Given the description of an element on the screen output the (x, y) to click on. 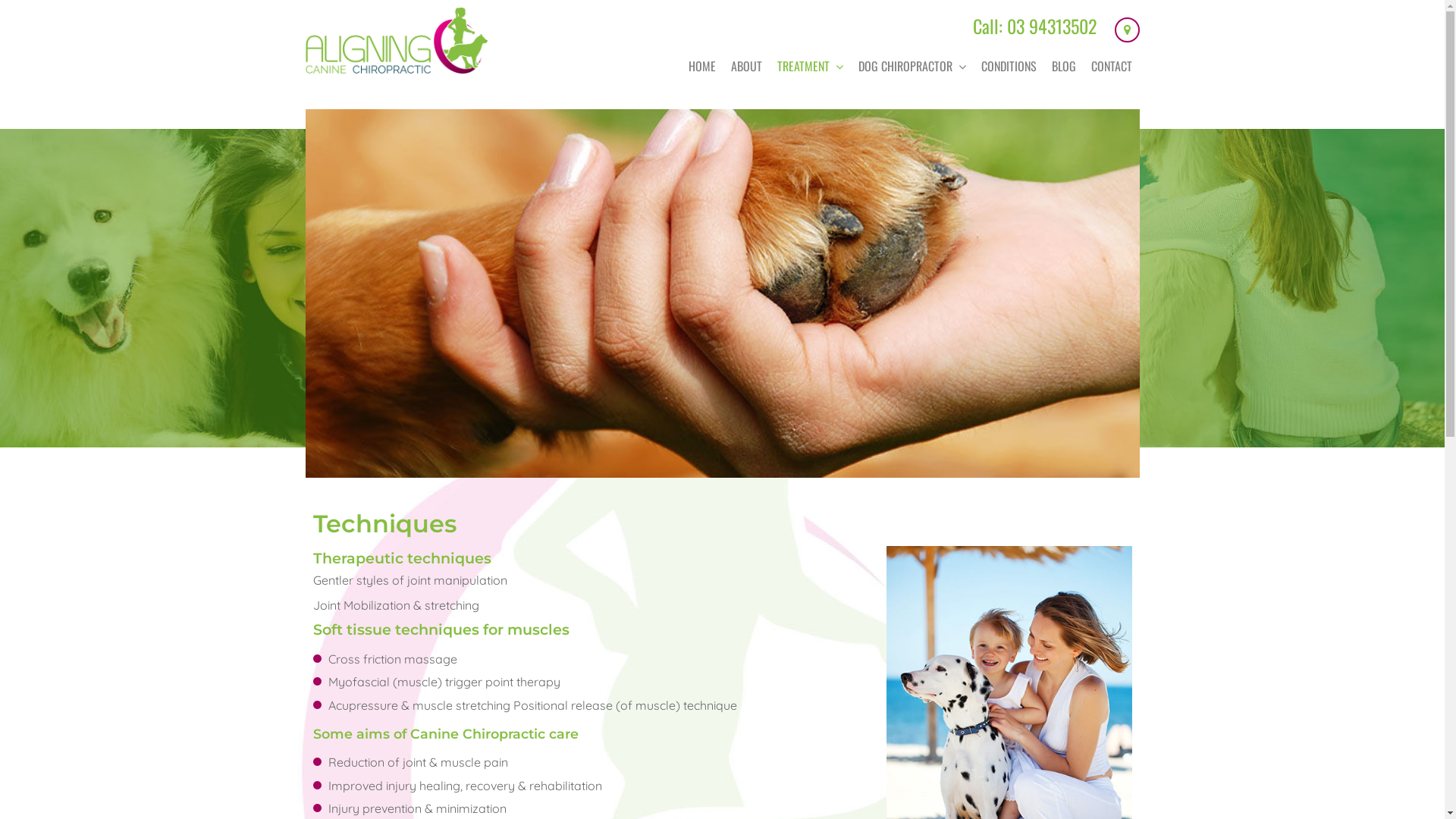
HOME Element type: text (701, 65)
TREATMENT Element type: text (809, 65)
ABOUT Element type: text (746, 65)
CONTACT Element type: text (1110, 65)
Call: 03 94313502 Element type: text (1033, 26)
DOG CHIROPRACTOR Element type: text (911, 65)
CONDITIONS Element type: text (1008, 65)
BLOG Element type: text (1062, 65)
